Given the description of an element on the screen output the (x, y) to click on. 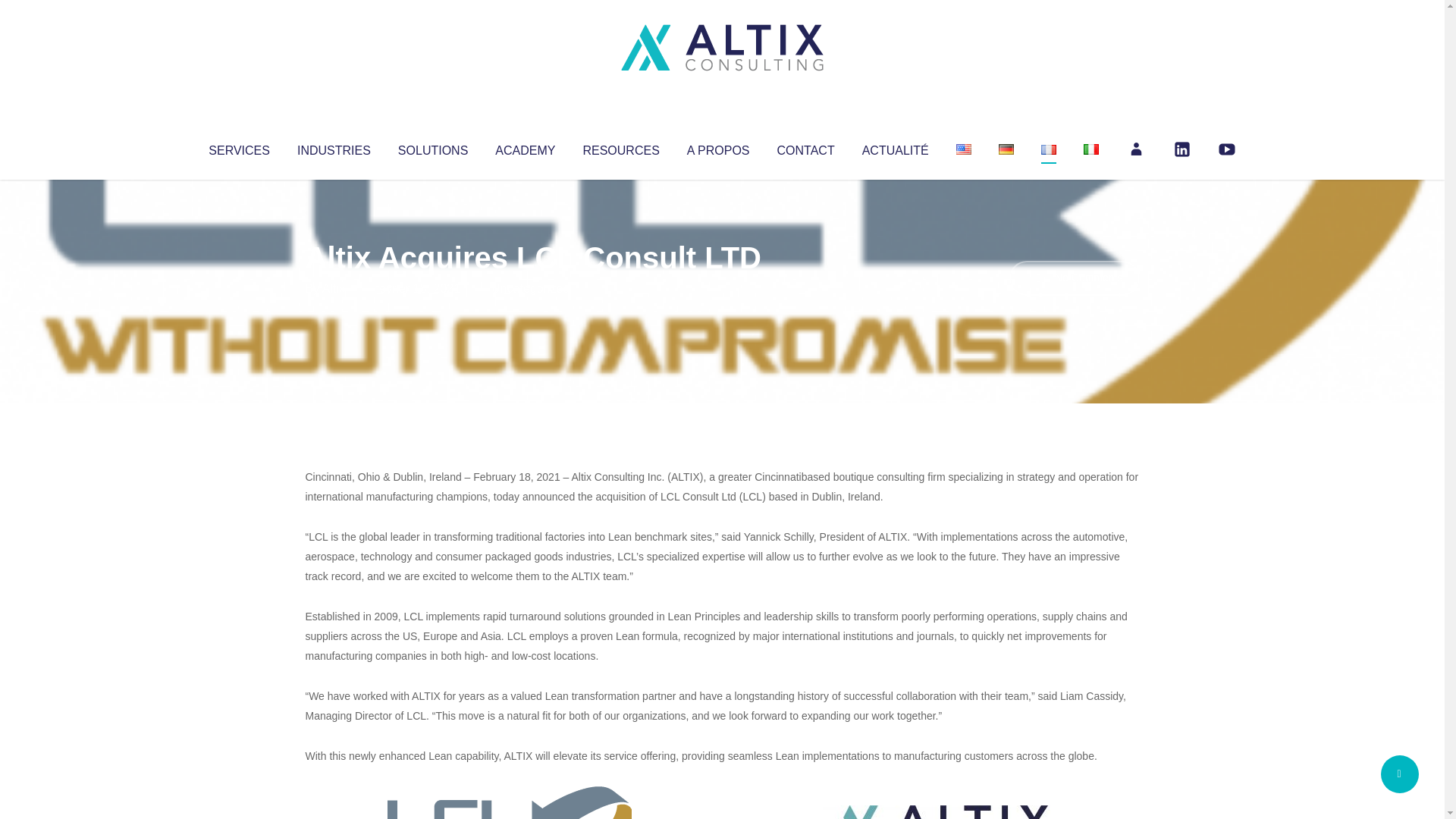
A PROPOS (718, 146)
Uncategorized (530, 287)
Altix (333, 287)
Articles par Altix (333, 287)
RESOURCES (620, 146)
SOLUTIONS (432, 146)
SERVICES (238, 146)
INDUSTRIES (334, 146)
ACADEMY (524, 146)
No Comments (1073, 278)
